Given the description of an element on the screen output the (x, y) to click on. 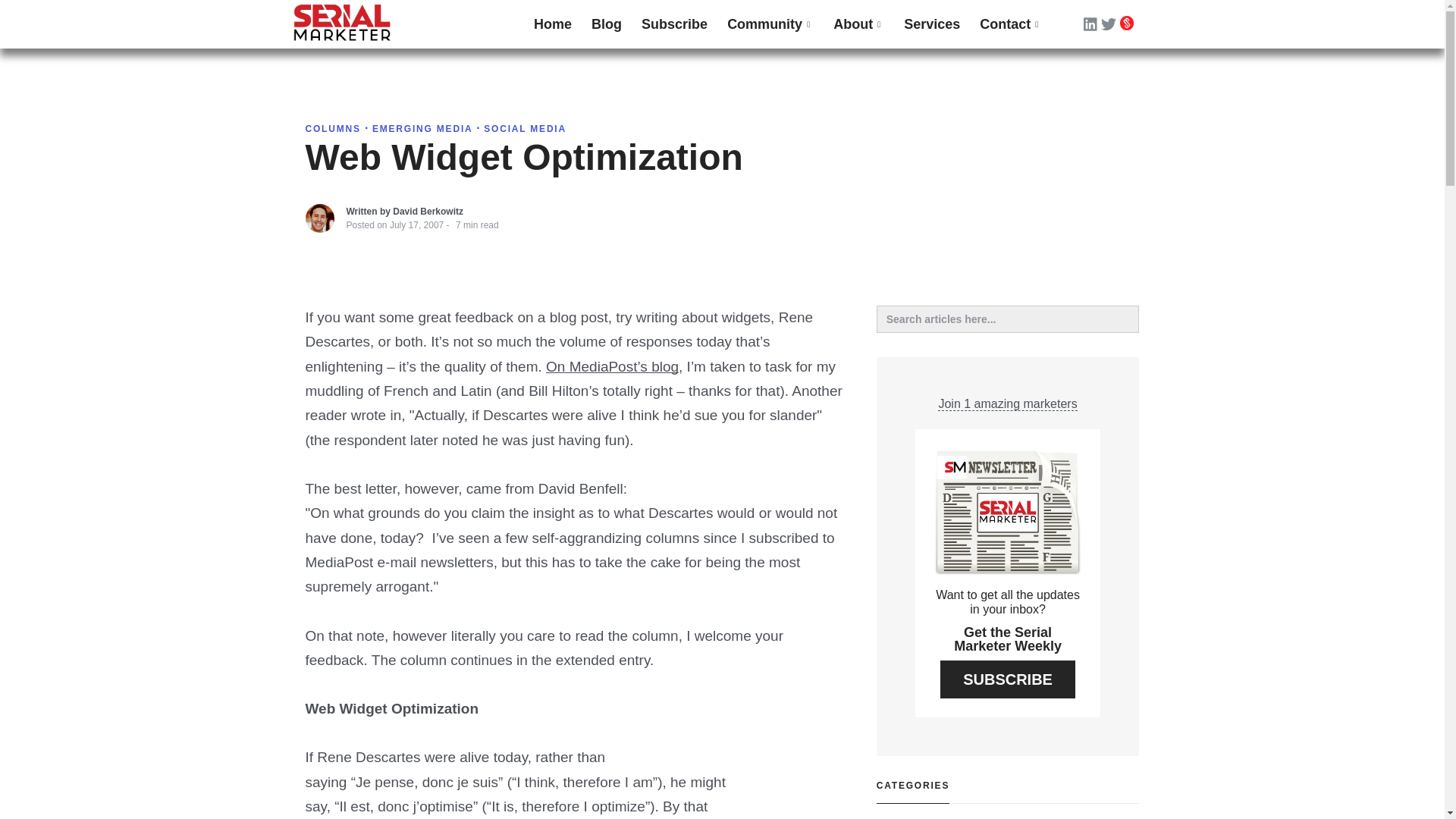
Home (552, 23)
SOCIAL MEDIA (524, 128)
About (858, 23)
Community (770, 23)
Contact (1010, 23)
Subscribe (674, 23)
July 17, 2007 (417, 225)
EMERGING MEDIA (424, 128)
Services (931, 23)
David Berkowitz (428, 211)
COLUMNS (334, 128)
Blog (605, 23)
